Given the description of an element on the screen output the (x, y) to click on. 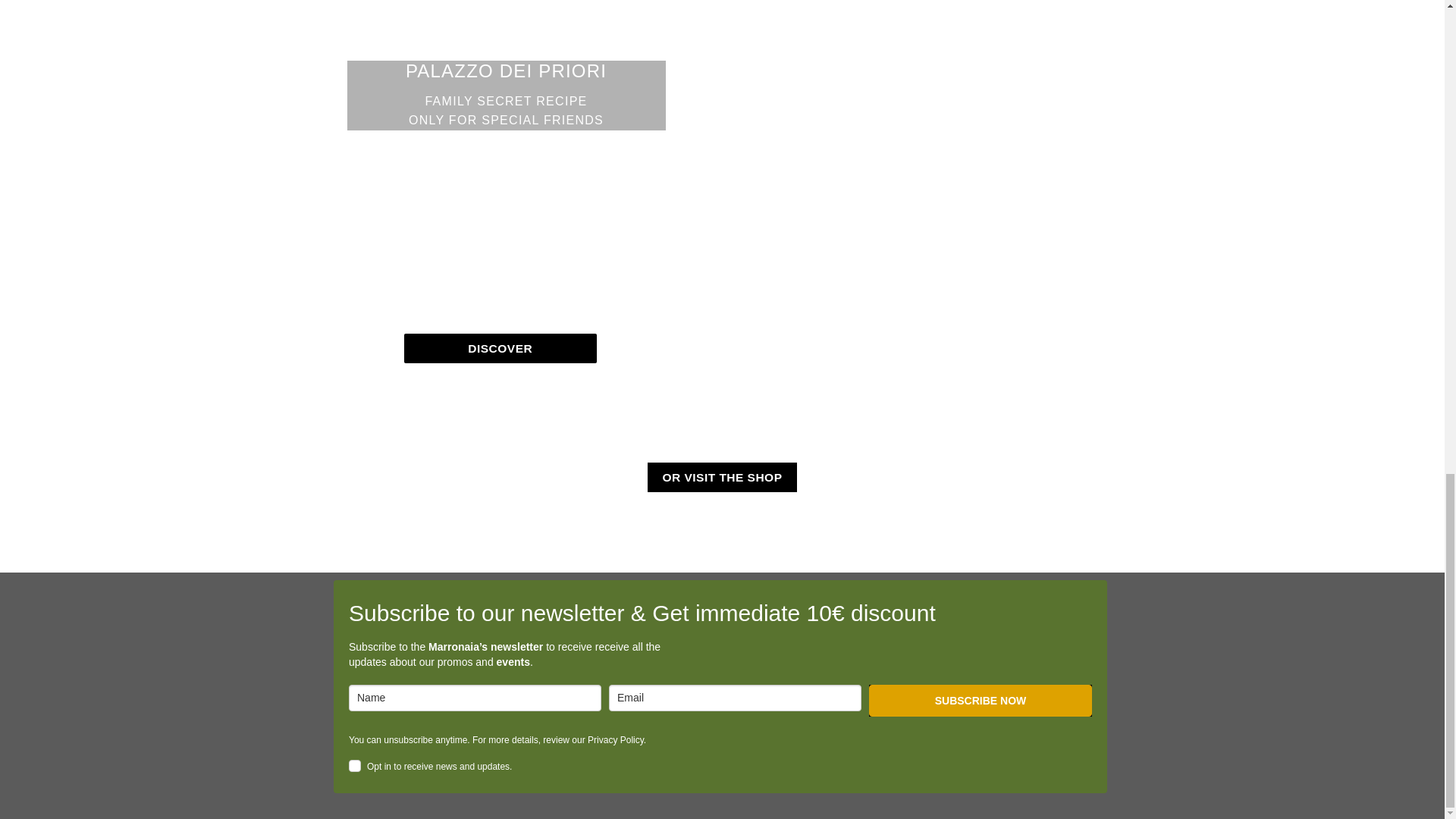
OR VISIT THE SHOP (721, 477)
DISCOVER (499, 348)
SUBSCRIBE NOW (980, 700)
